Given the description of an element on the screen output the (x, y) to click on. 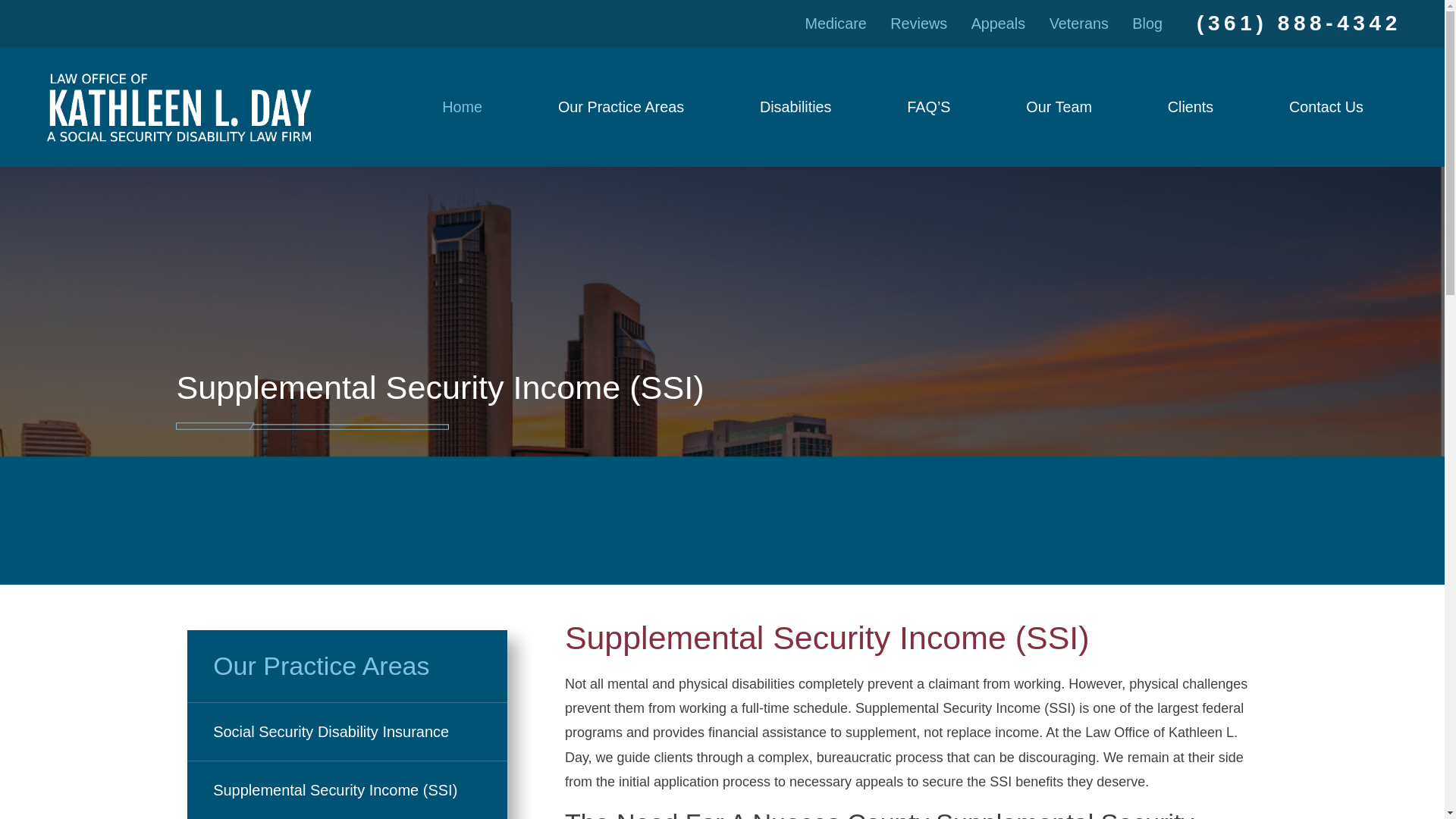
Veterans (1078, 23)
Disabilities (795, 106)
Clients (1189, 106)
Home (461, 106)
Medicare (835, 23)
Our Practice Areas (620, 106)
Reviews (918, 23)
Appeals (998, 23)
Our Team (1058, 106)
Kathleen Day Law (180, 106)
